Given the description of an element on the screen output the (x, y) to click on. 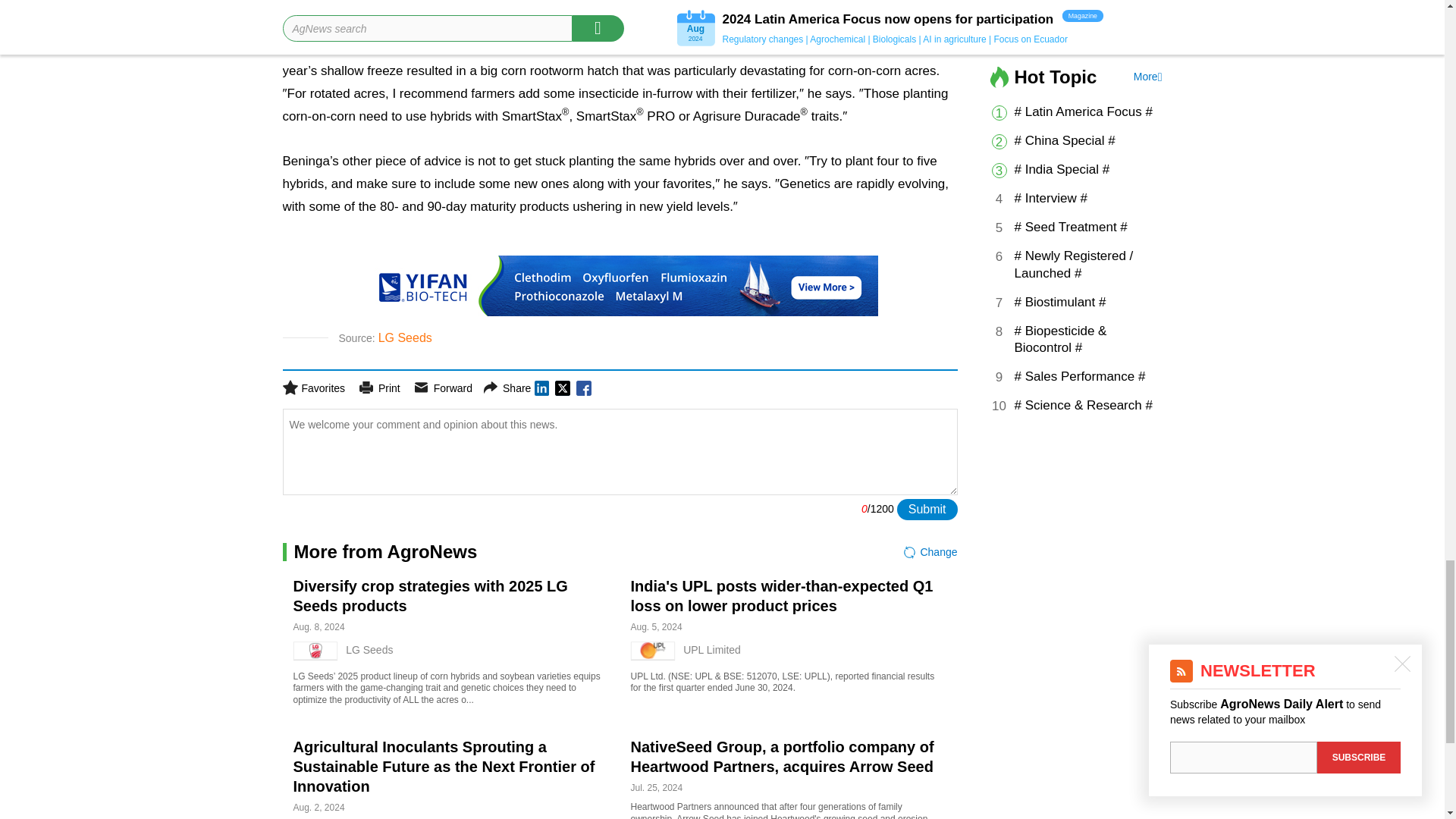
Submit (927, 509)
Diversify crop strategies with 2025 LG Seeds products (429, 596)
